Given the description of an element on the screen output the (x, y) to click on. 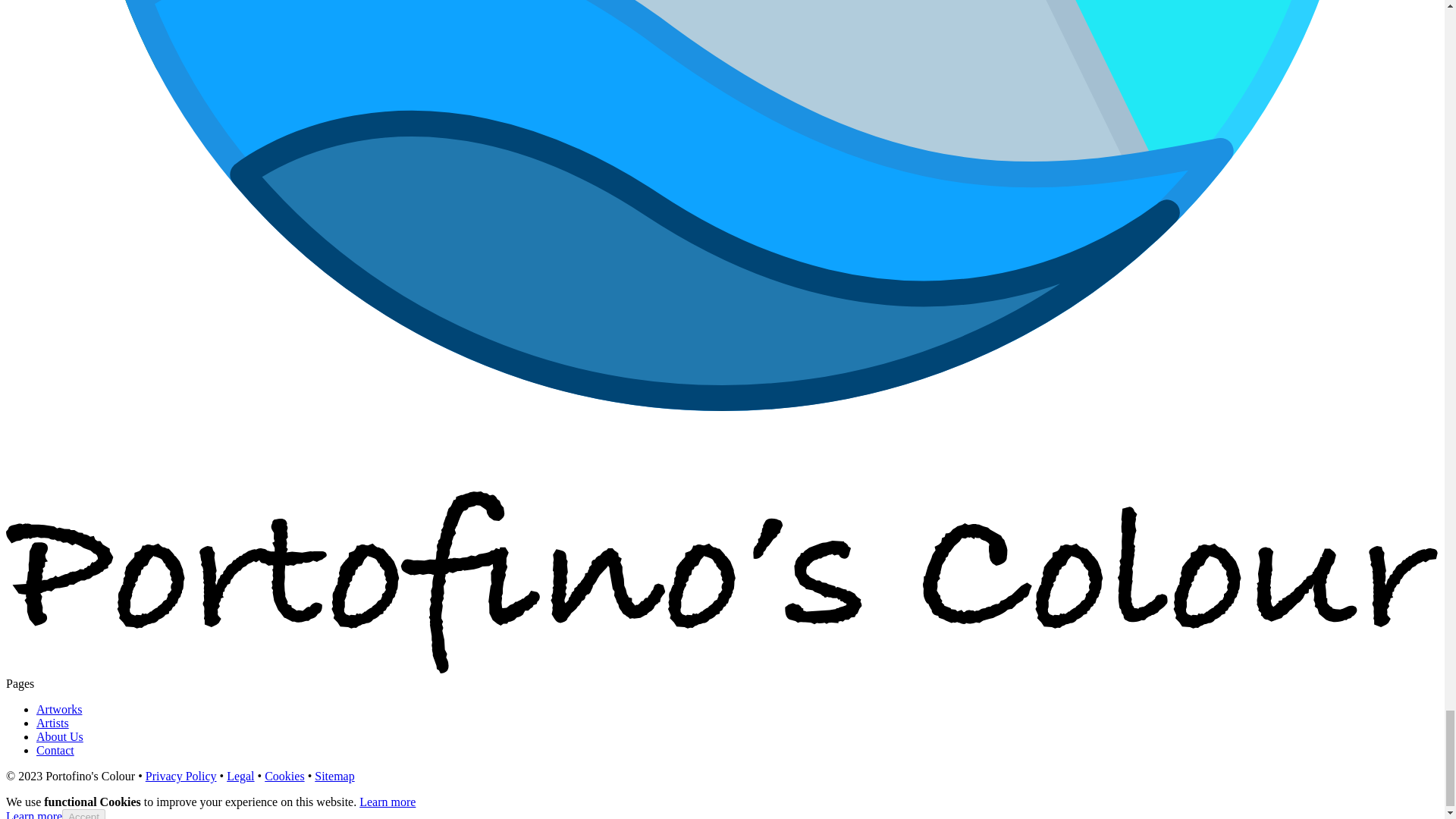
About Us (59, 736)
Legal (240, 775)
Privacy Policy (180, 775)
Sitemap (333, 775)
Learn more (386, 801)
Artworks (58, 708)
Contact (55, 749)
Artists (52, 722)
Cookies (284, 775)
